Given the description of an element on the screen output the (x, y) to click on. 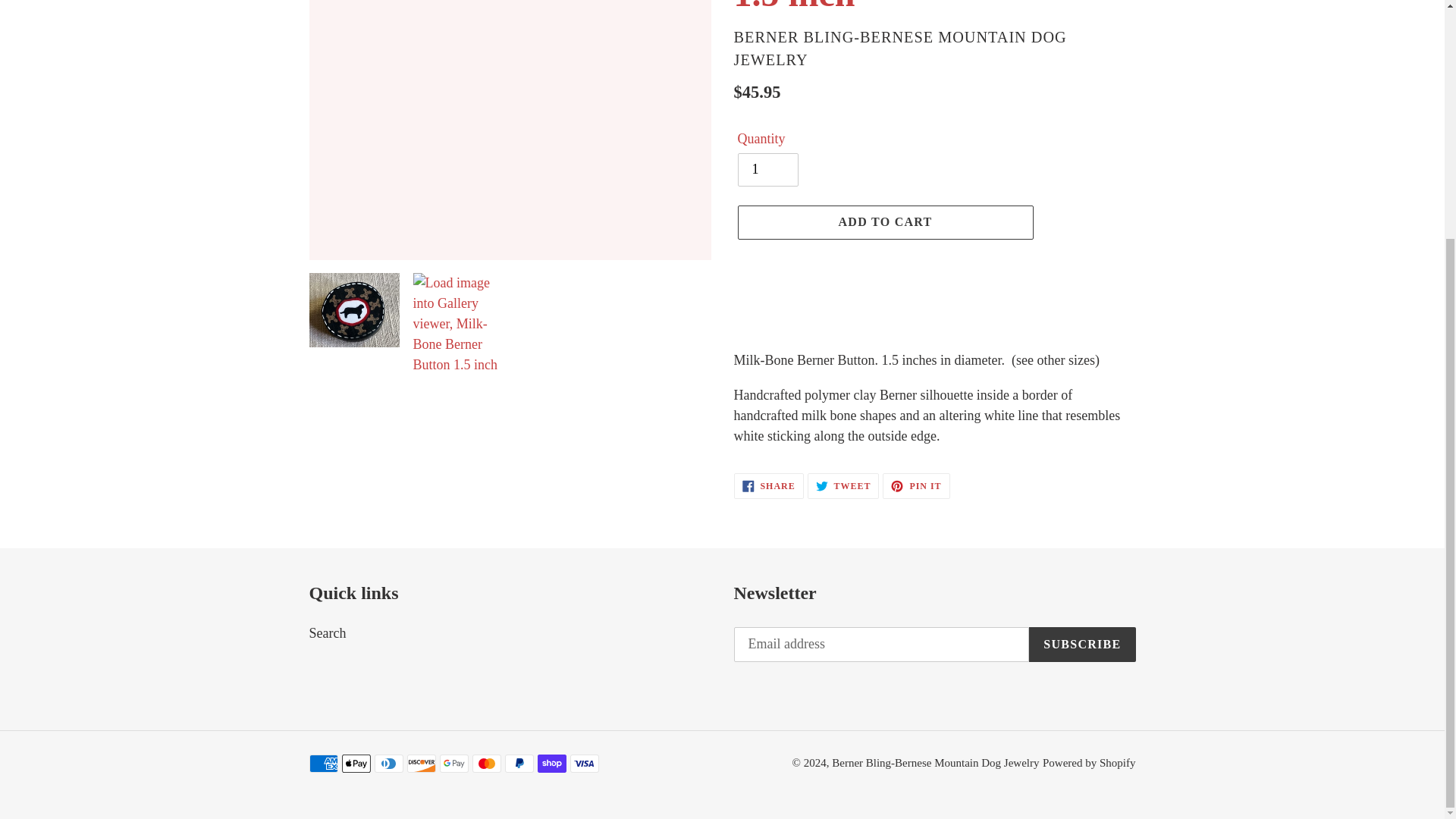
ADD TO CART (884, 222)
1 (766, 169)
